Given the description of an element on the screen output the (x, y) to click on. 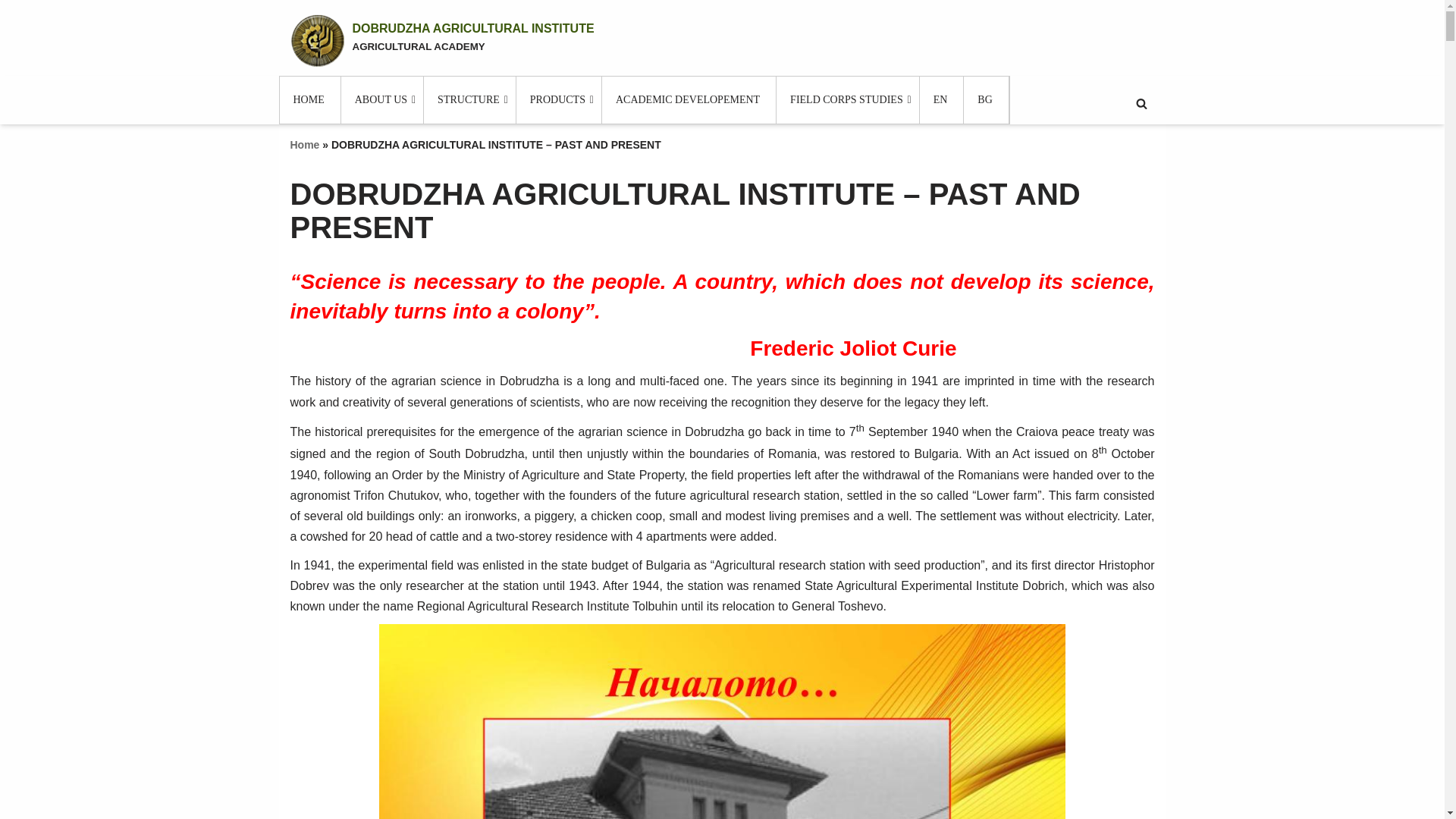
DOBRUDZHA AGRICULTURAL INSTITUTE (441, 40)
FIELD CORPS STUDIES (848, 99)
HOME (309, 99)
PRODUCTS (559, 99)
Skip to content (11, 31)
ACADEMIC DEVELOPEMENT (689, 99)
STRUCTURE (469, 99)
ABOUT US (381, 99)
EN (441, 40)
